Given the description of an element on the screen output the (x, y) to click on. 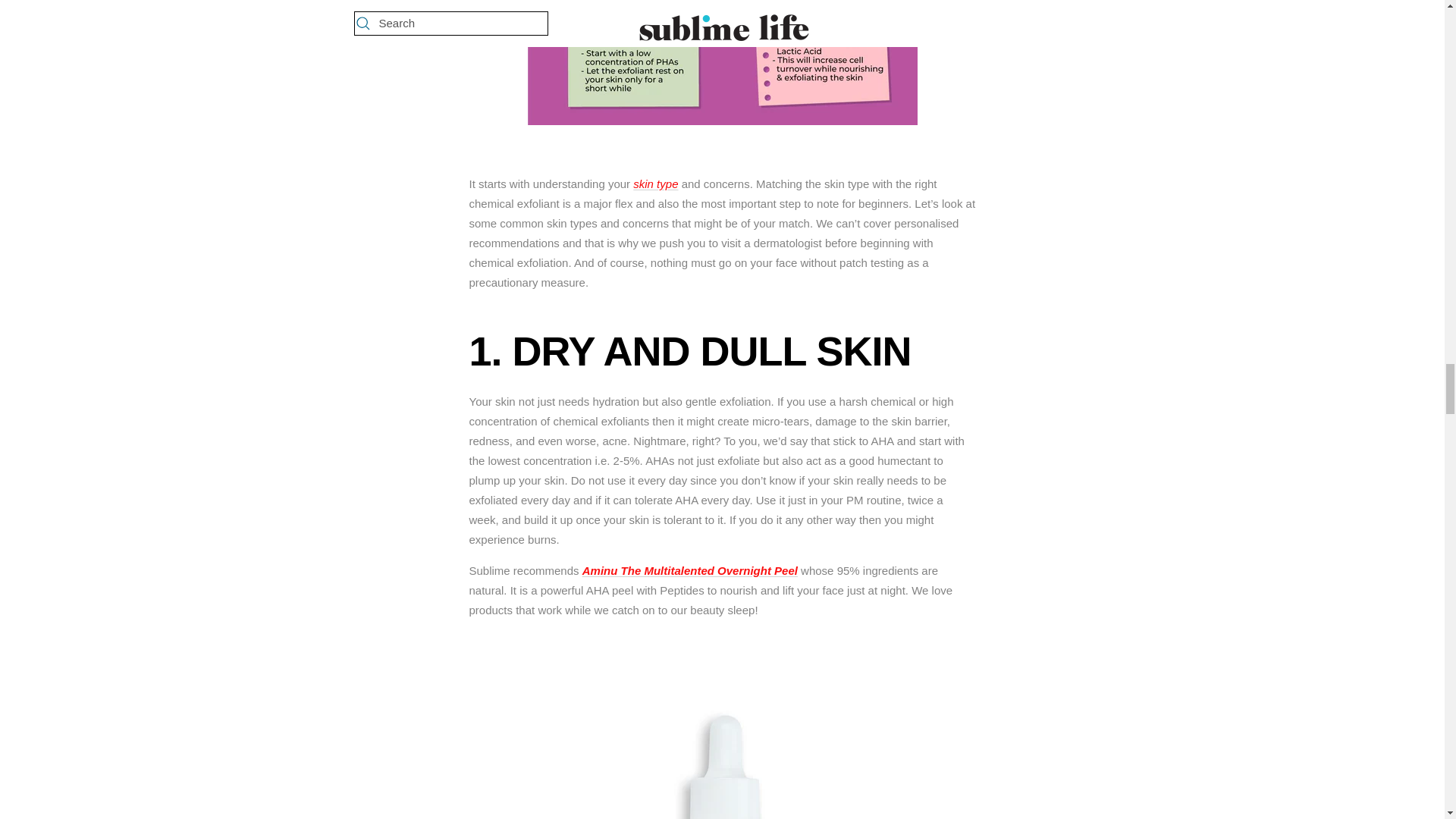
Aminu The Multitalented Overnight Peel on www.sublimelife.in (722, 640)
Aminu The Multitalented Overnight Peel (689, 570)
skin type (655, 183)
Aminu The Multitalented Overnight Peel on www.sublimelife.in (689, 570)
A blog on How to decode your skin type on www.sublimelife.in (655, 183)
